Given the description of an element on the screen output the (x, y) to click on. 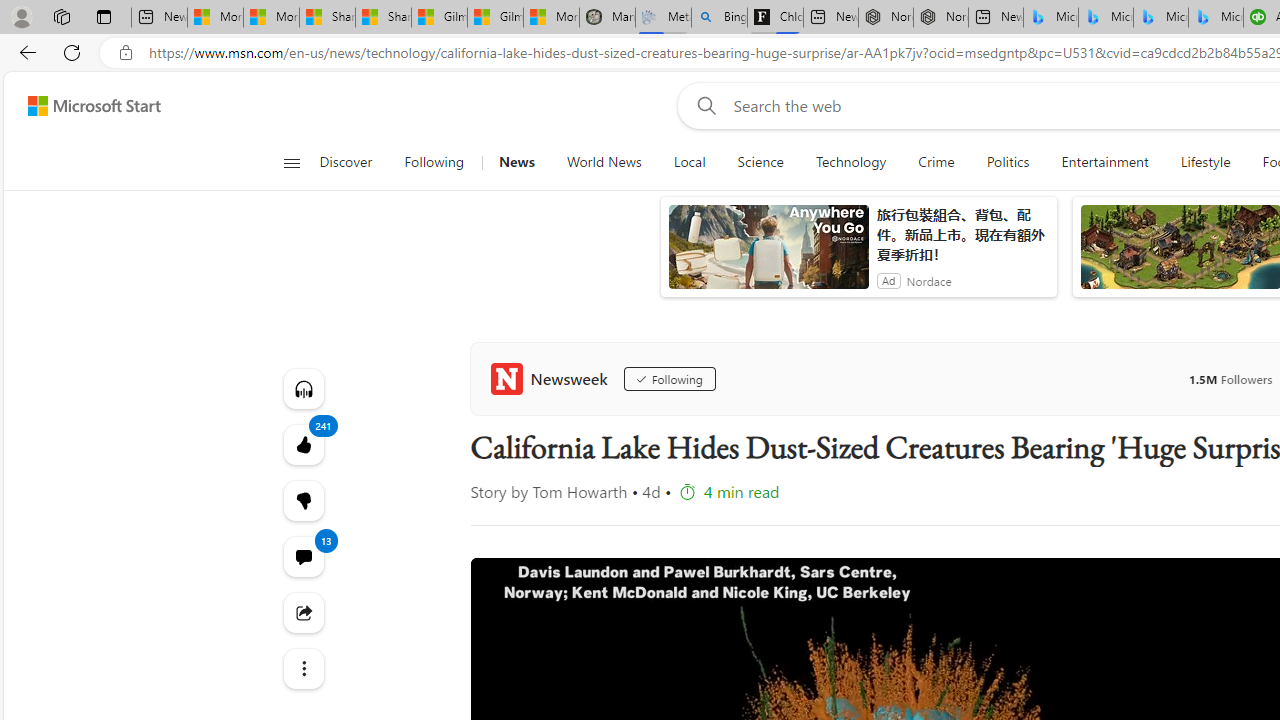
Science (760, 162)
View site information (125, 53)
Politics (1007, 162)
Science (760, 162)
Newsweek (552, 378)
Following (434, 162)
Microsoft Start (94, 105)
Gilma and Hector both pose tropical trouble for Hawaii (495, 17)
News (516, 162)
241 Like (302, 444)
Lifestyle (1204, 162)
World News (603, 162)
Following (669, 378)
Back (24, 52)
Lifestyle (1205, 162)
